Given the description of an element on the screen output the (x, y) to click on. 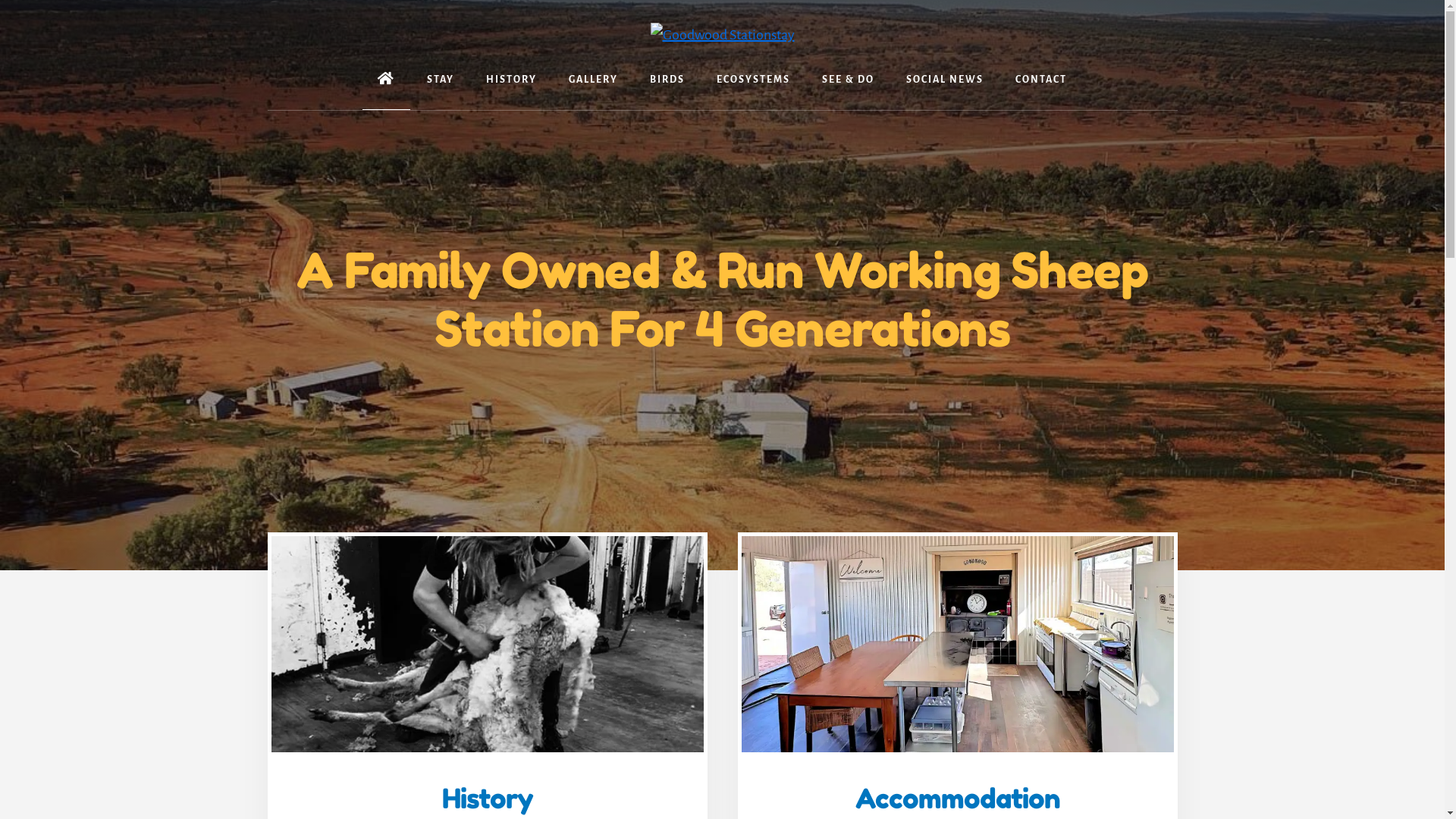
Skip to content Element type: text (0, 0)
BIRDS Element type: text (666, 79)
ECOSYSTEMS Element type: text (753, 79)
Accommodation Element type: text (957, 797)
SOCIAL NEWS Element type: text (944, 79)
SEE & DO Element type: text (847, 79)
HISTORY Element type: text (511, 79)
GALLERY Element type: text (593, 79)
STAY Element type: text (440, 79)
CONTACT Element type: text (1041, 79)
History Element type: text (486, 797)
